Given the description of an element on the screen output the (x, y) to click on. 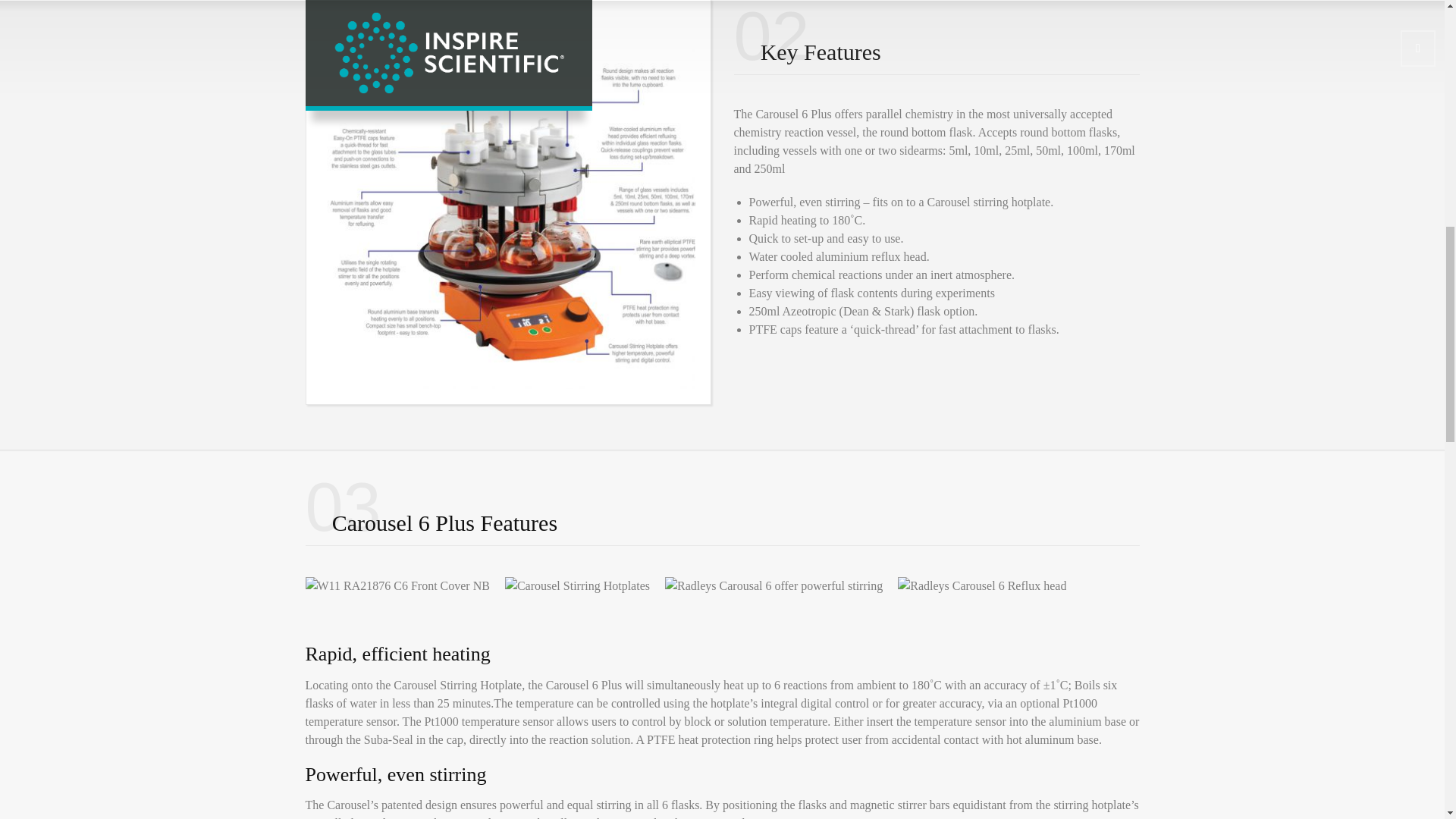
W11 RA21876 C6 Front Cover NB (396, 586)
